Given the description of an element on the screen output the (x, y) to click on. 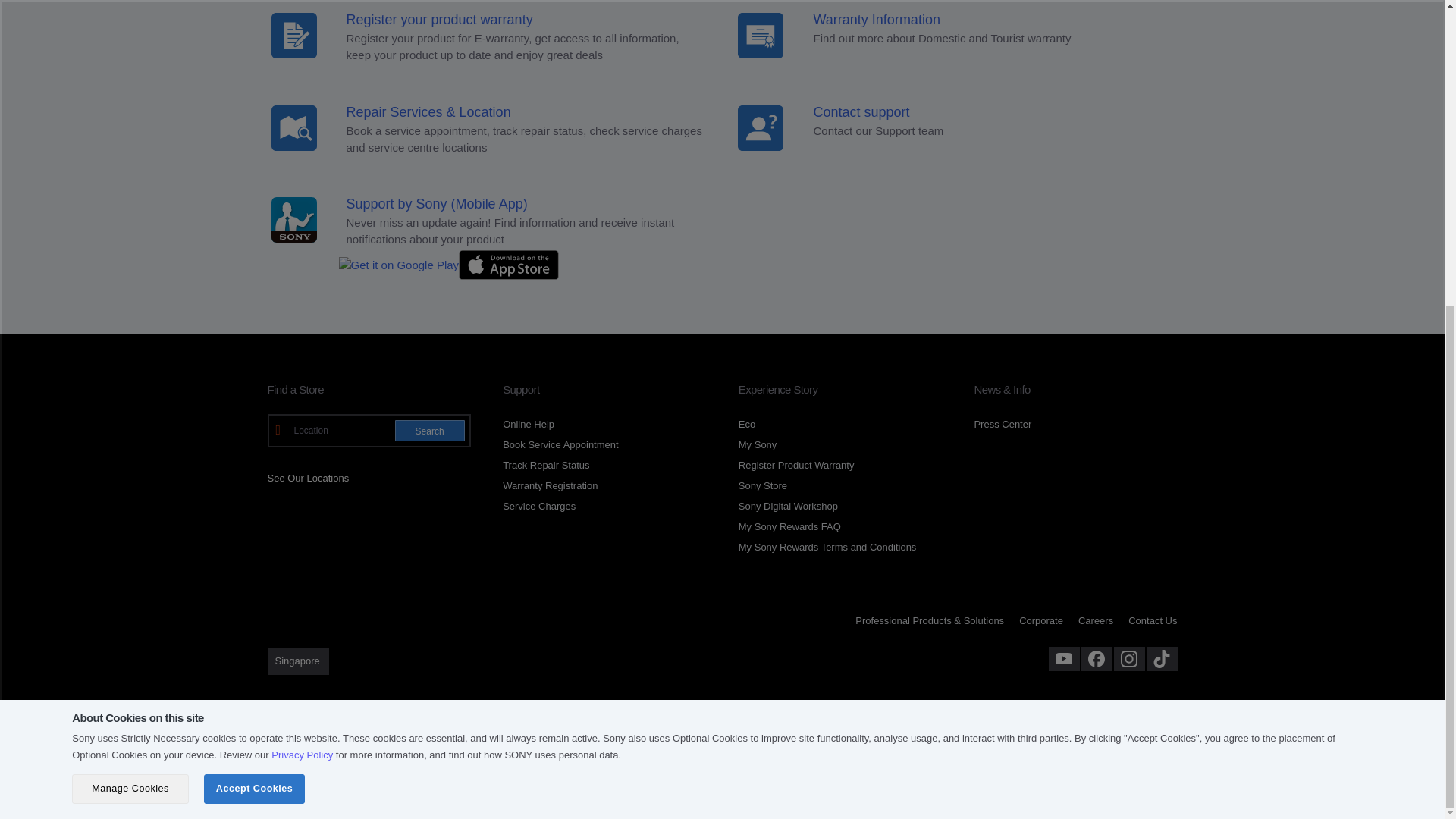
Contact Us (710, 318)
